Given the description of an element on the screen output the (x, y) to click on. 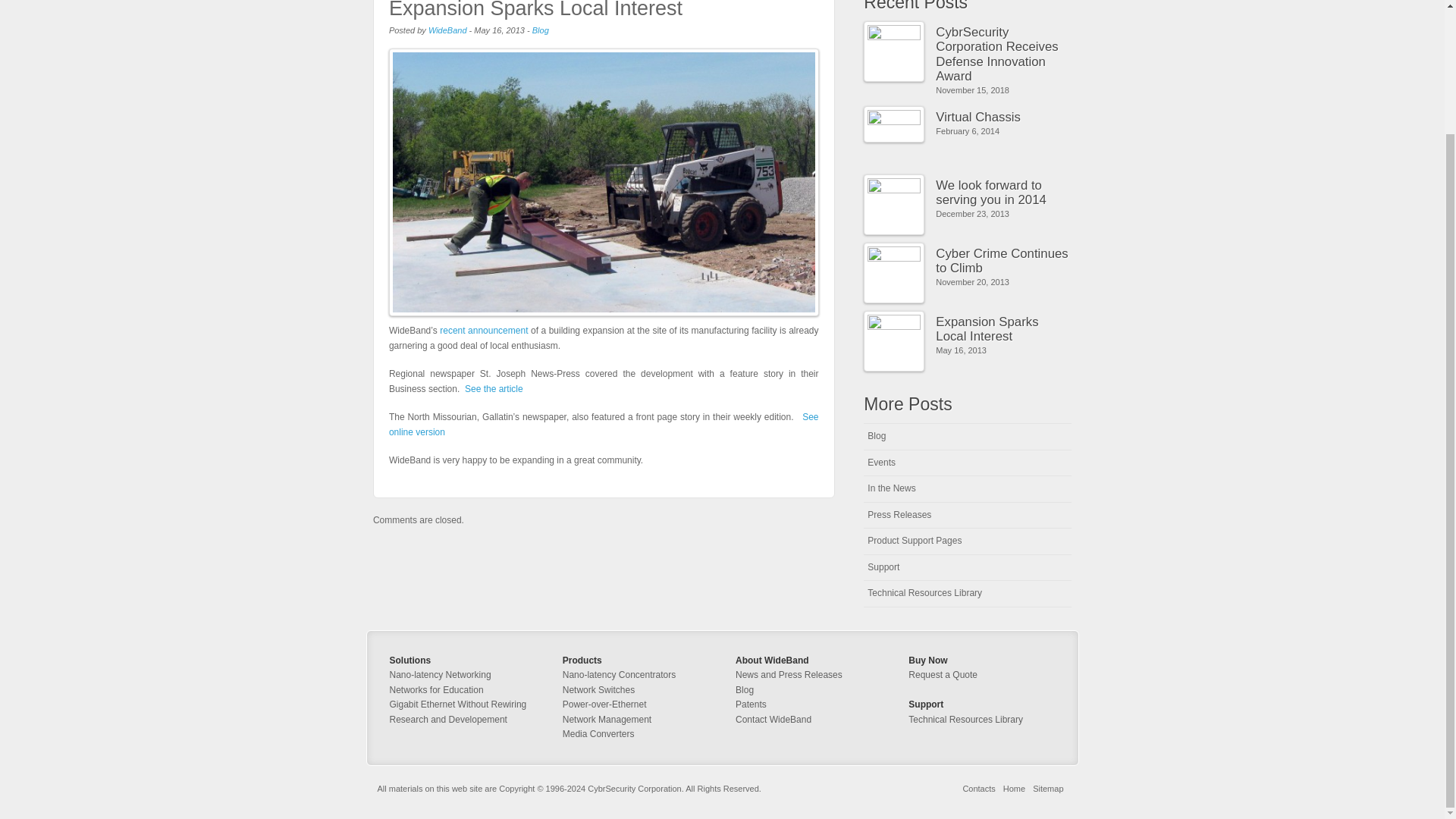
WideBand (447, 30)
We look forward to serving you in 2014 (1003, 193)
Expansion Sparks Local Interest (535, 9)
Virtual Chassis (1003, 116)
View all posts by WideBand (447, 30)
Expansion Sparks Local Interest (535, 9)
CybrSecurity Corporation Receives Defense Innovation Award (1003, 54)
Cyber Crime Continues to Climb (1003, 261)
